Given the description of an element on the screen output the (x, y) to click on. 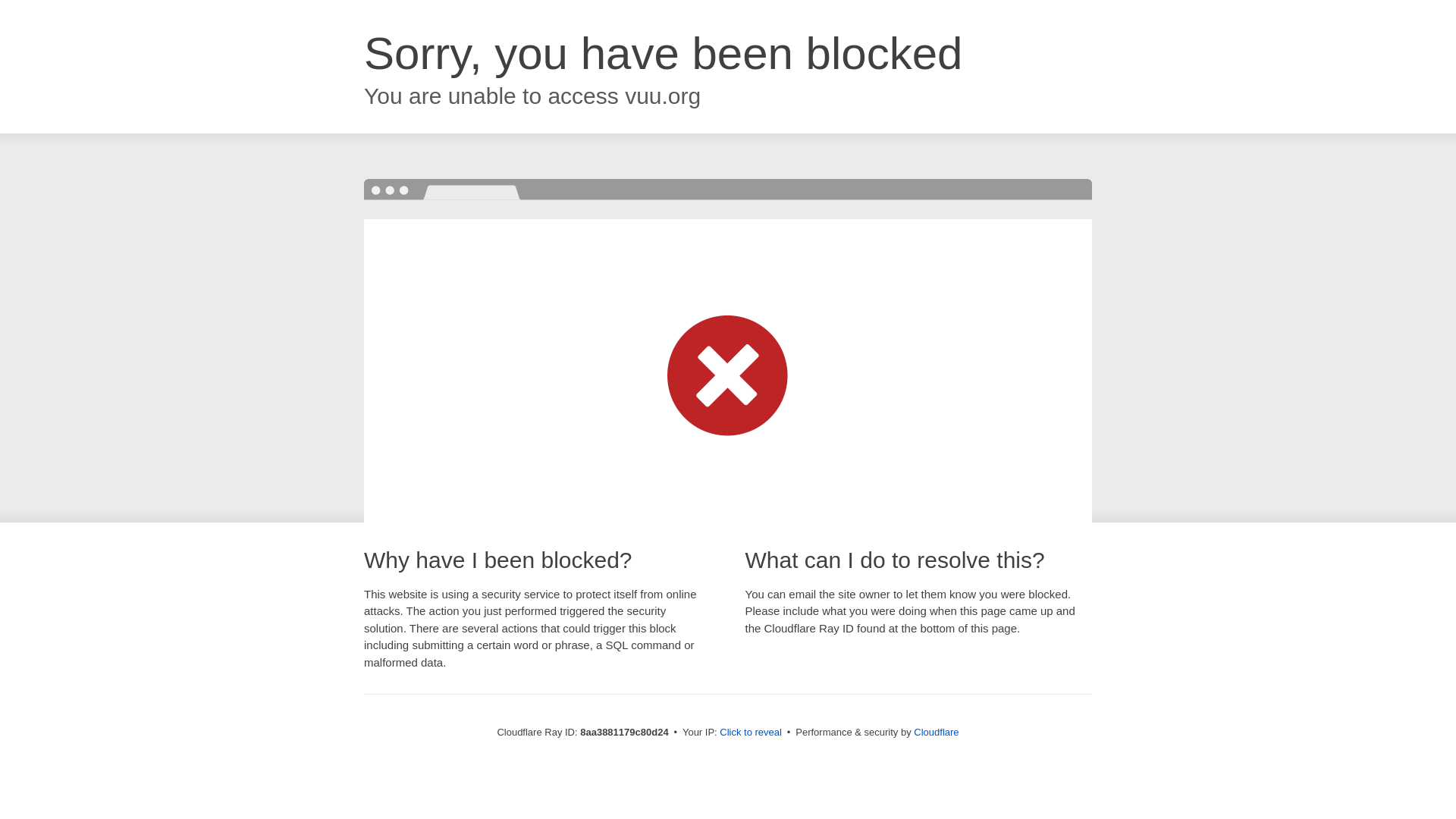
Cloudflare (936, 731)
Click to reveal (750, 732)
